Given the description of an element on the screen output the (x, y) to click on. 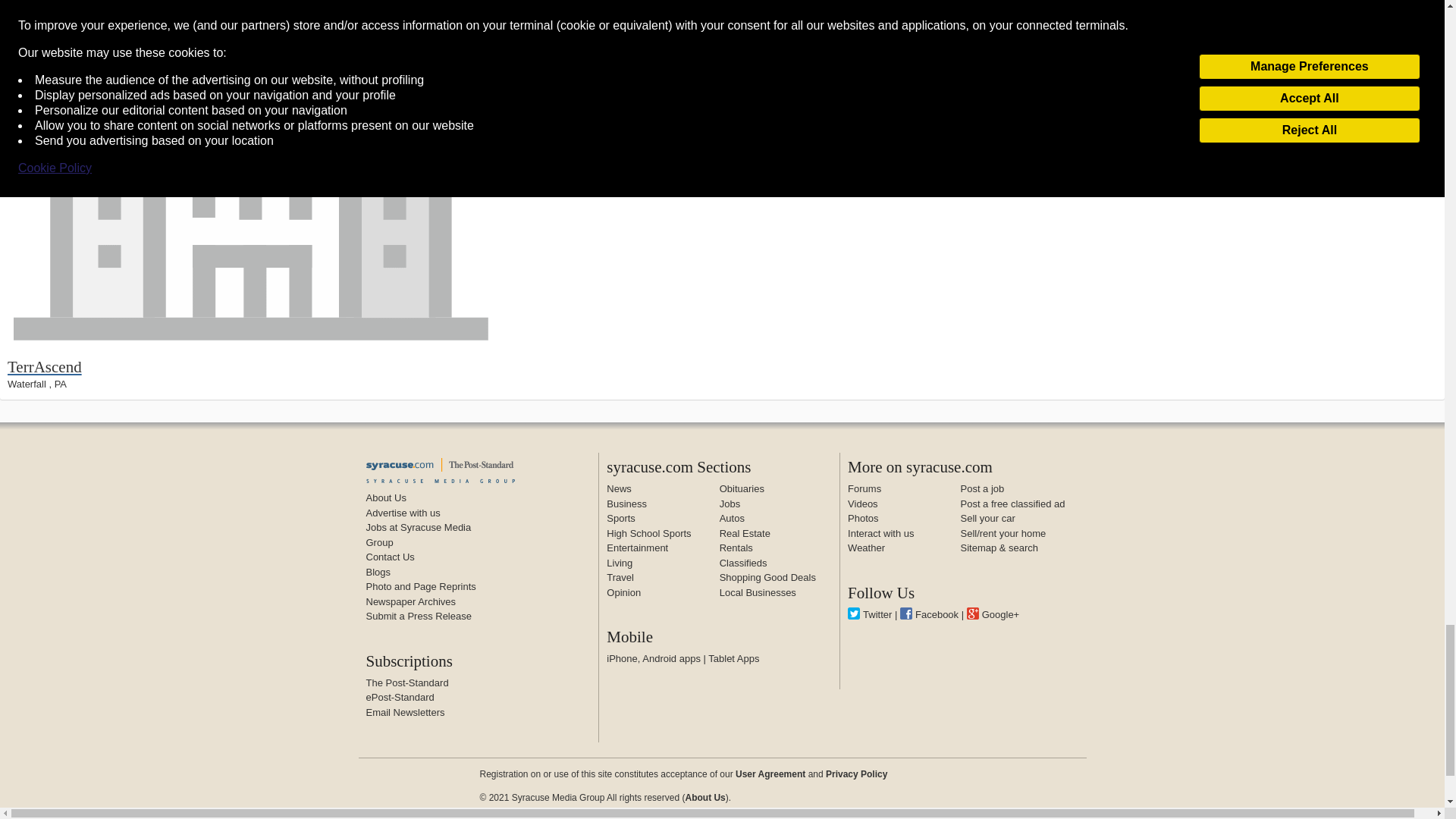
Privacy Policy (855, 774)
Contact Us (389, 556)
User Agreement (770, 774)
